Given the description of an element on the screen output the (x, y) to click on. 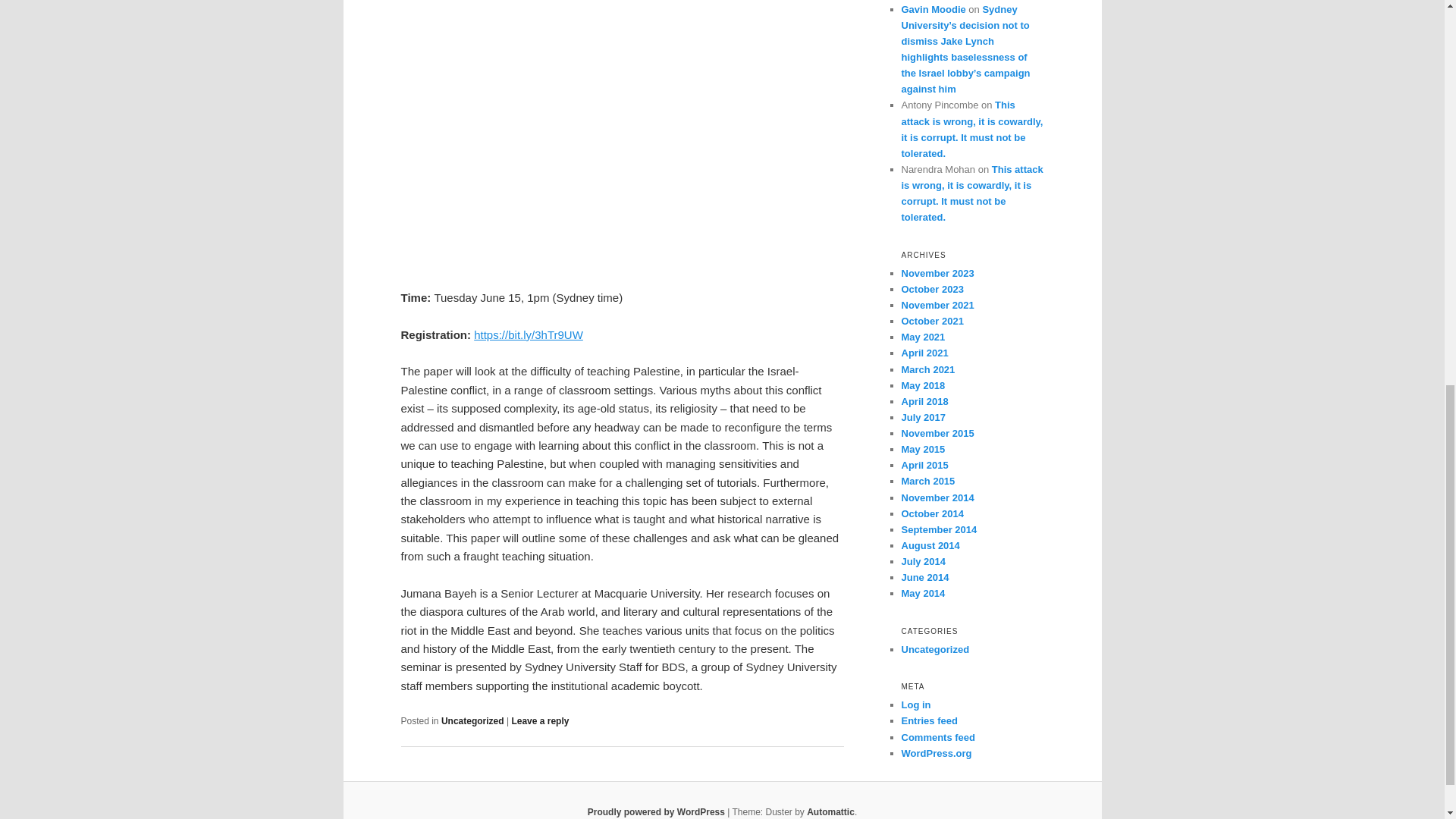
Gavin Moodie (933, 9)
Uncategorized (472, 720)
October 2021 (931, 320)
Leave a reply (540, 720)
November 2023 (937, 273)
October 2023 (931, 288)
A Semantic Personal Publishing Platform (656, 811)
November 2021 (937, 305)
